Given the description of an element on the screen output the (x, y) to click on. 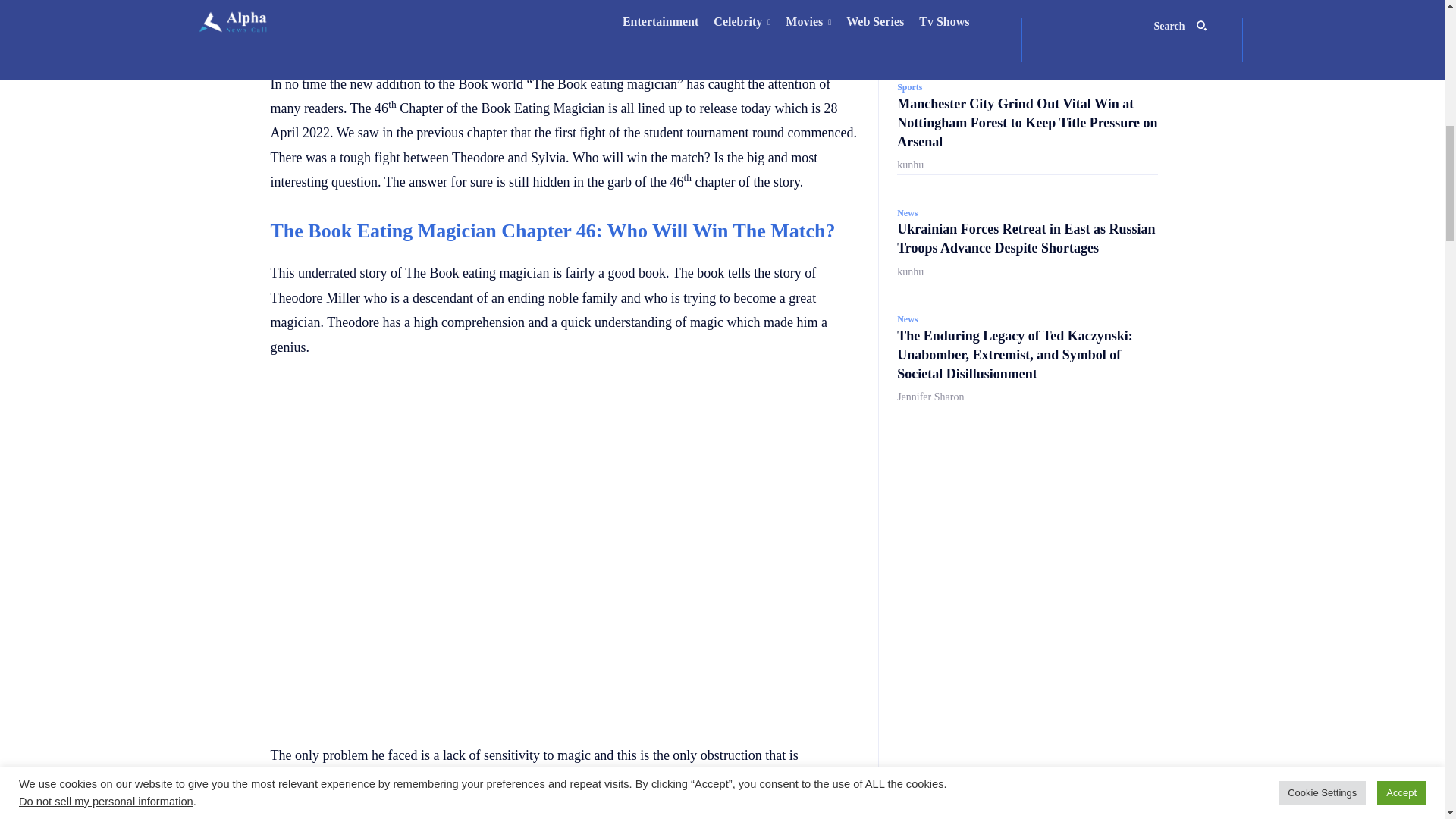
The Book Eating Magician Chapter 46 Release Date (564, 13)
